Given the description of an element on the screen output the (x, y) to click on. 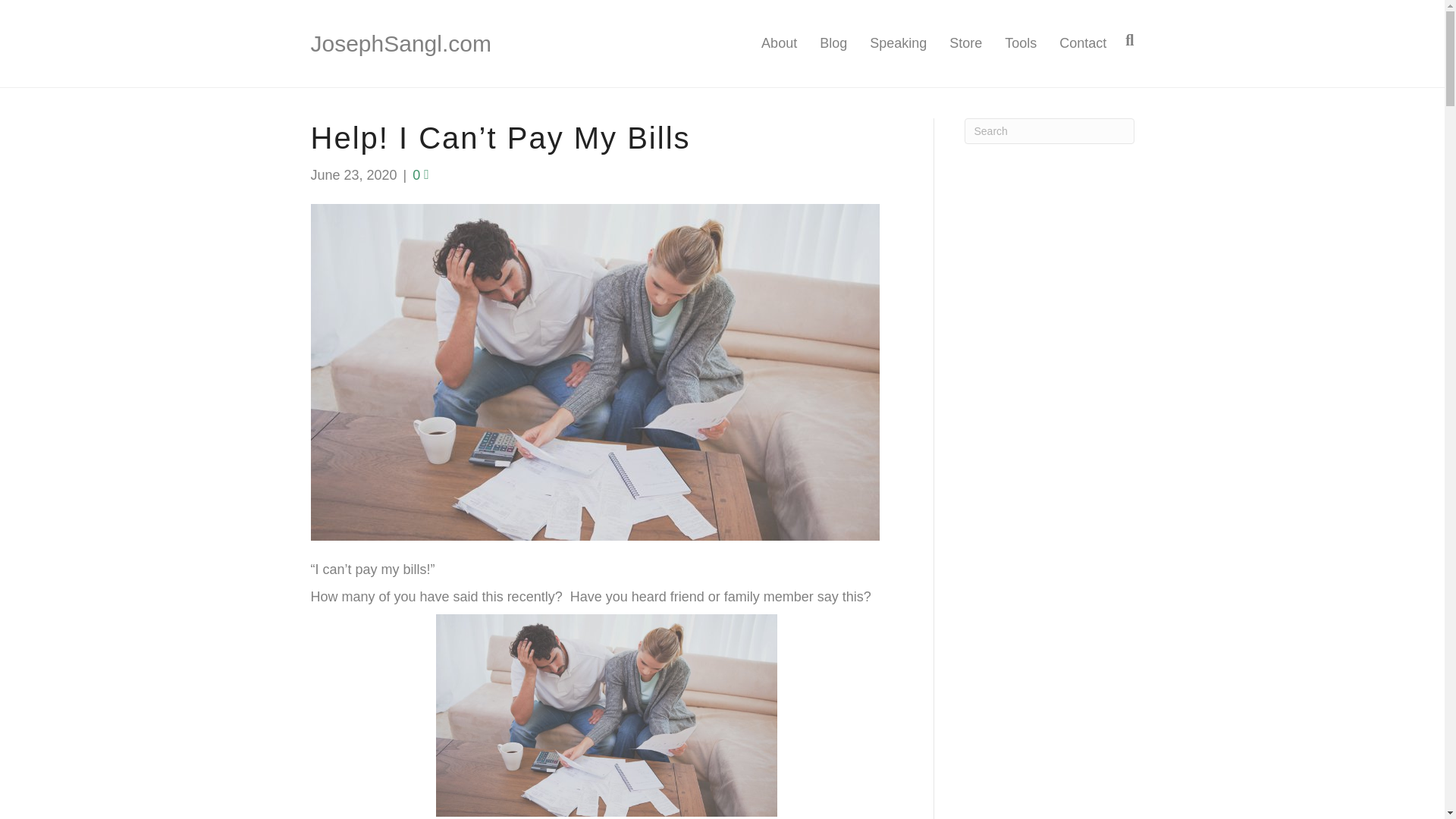
Store (964, 43)
Contact (1077, 43)
Blog (833, 43)
0 (420, 174)
Search (1048, 130)
Search (1048, 130)
Tools (1020, 43)
JosephSangl.com (442, 43)
About (778, 43)
Speaking (898, 43)
